Given the description of an element on the screen output the (x, y) to click on. 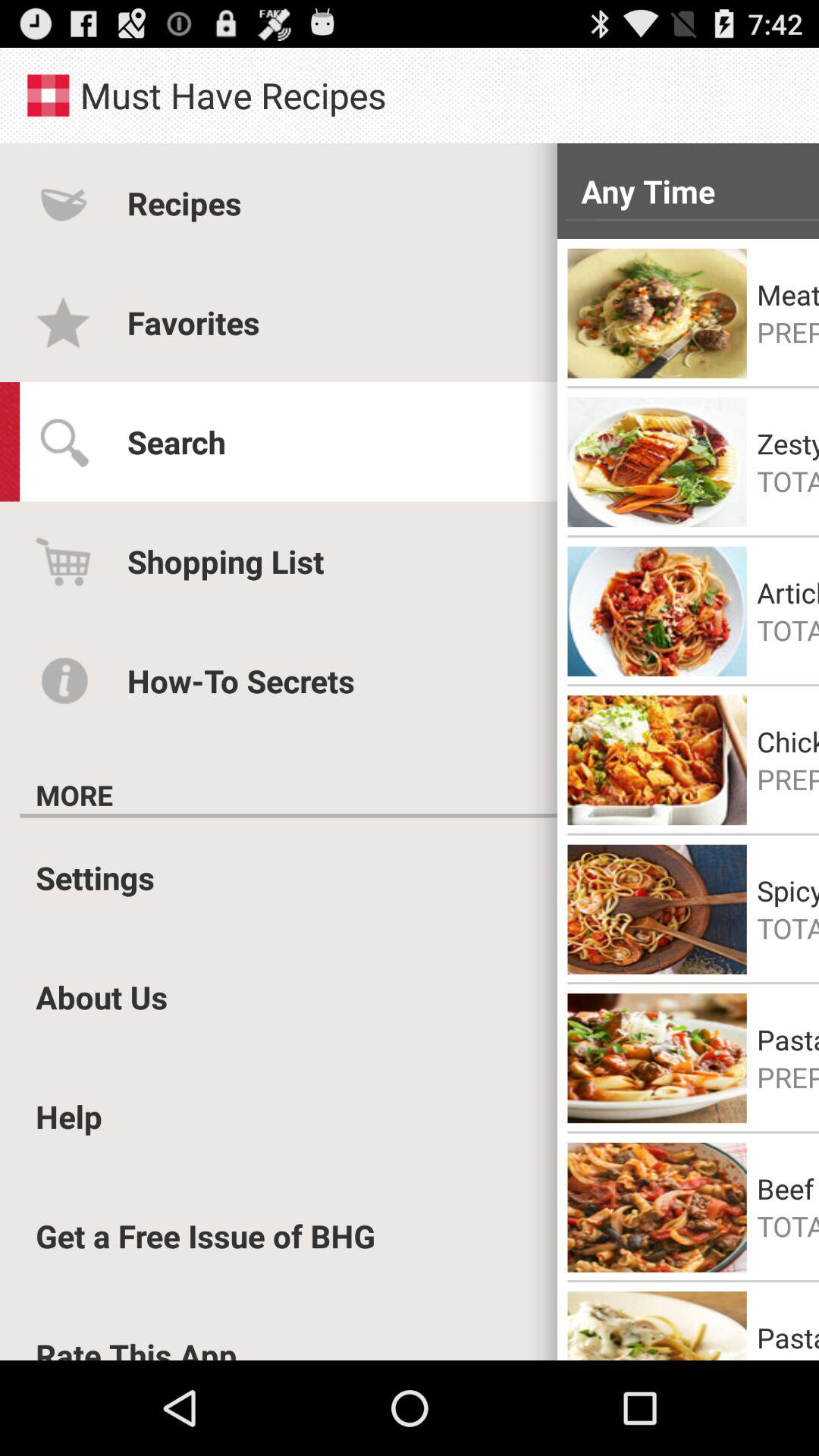
launch icon above the total: 25 min icon (788, 443)
